Given the description of an element on the screen output the (x, y) to click on. 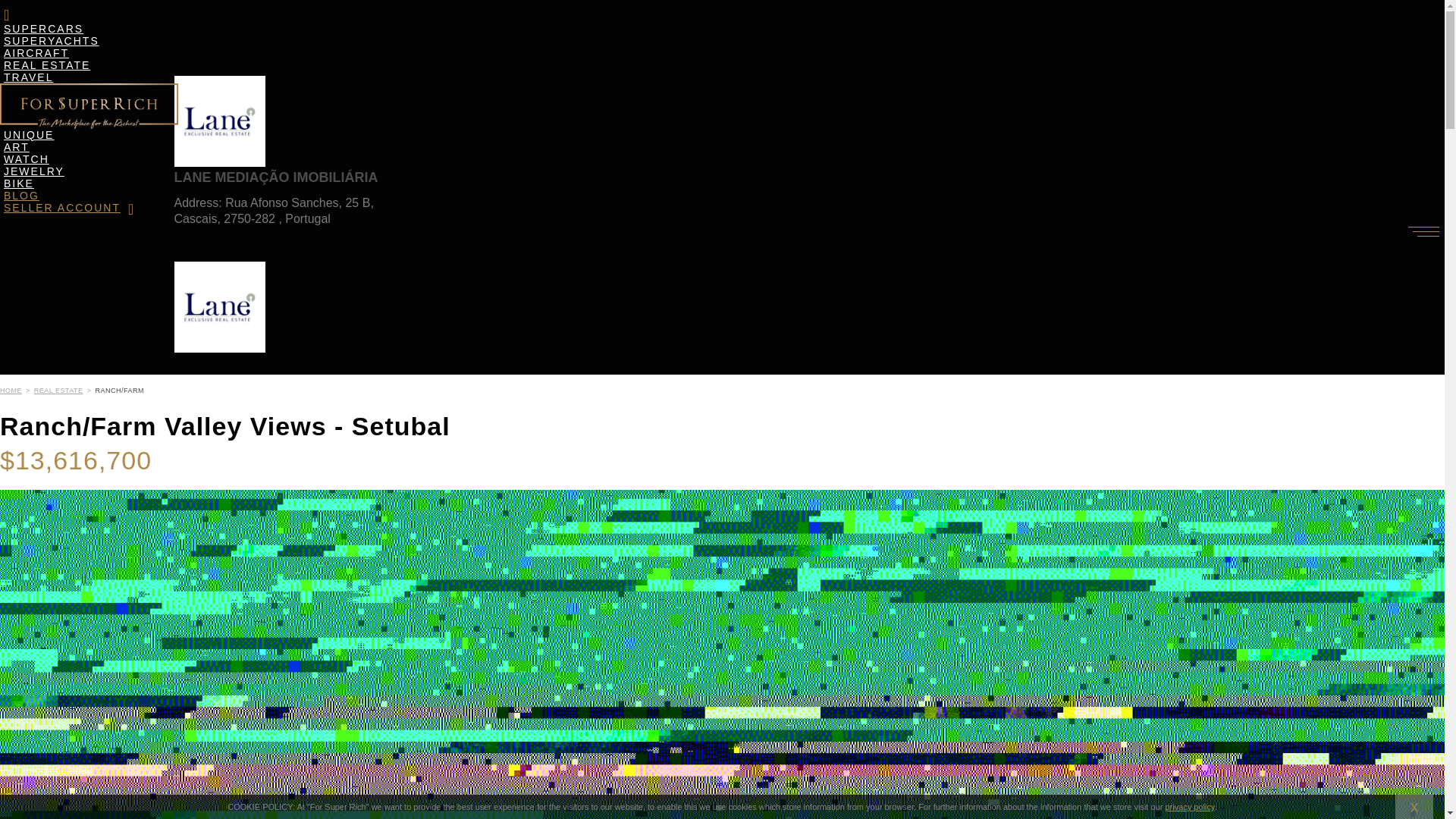
SELLER ACCOUNT (69, 207)
SUPERCARS (43, 28)
AIRCRAFT (36, 53)
TRAVEL (28, 76)
SUPERYACHTS (51, 40)
REAL ESTATE (47, 65)
JEWELRY (34, 170)
WATCH (26, 158)
BLOG For Super Rich (21, 195)
REAL ESTATE (57, 389)
UNIQUE (29, 134)
ART (16, 147)
BLOG (21, 195)
HOME (10, 389)
My ACCOUNT (69, 207)
